Given the description of an element on the screen output the (x, y) to click on. 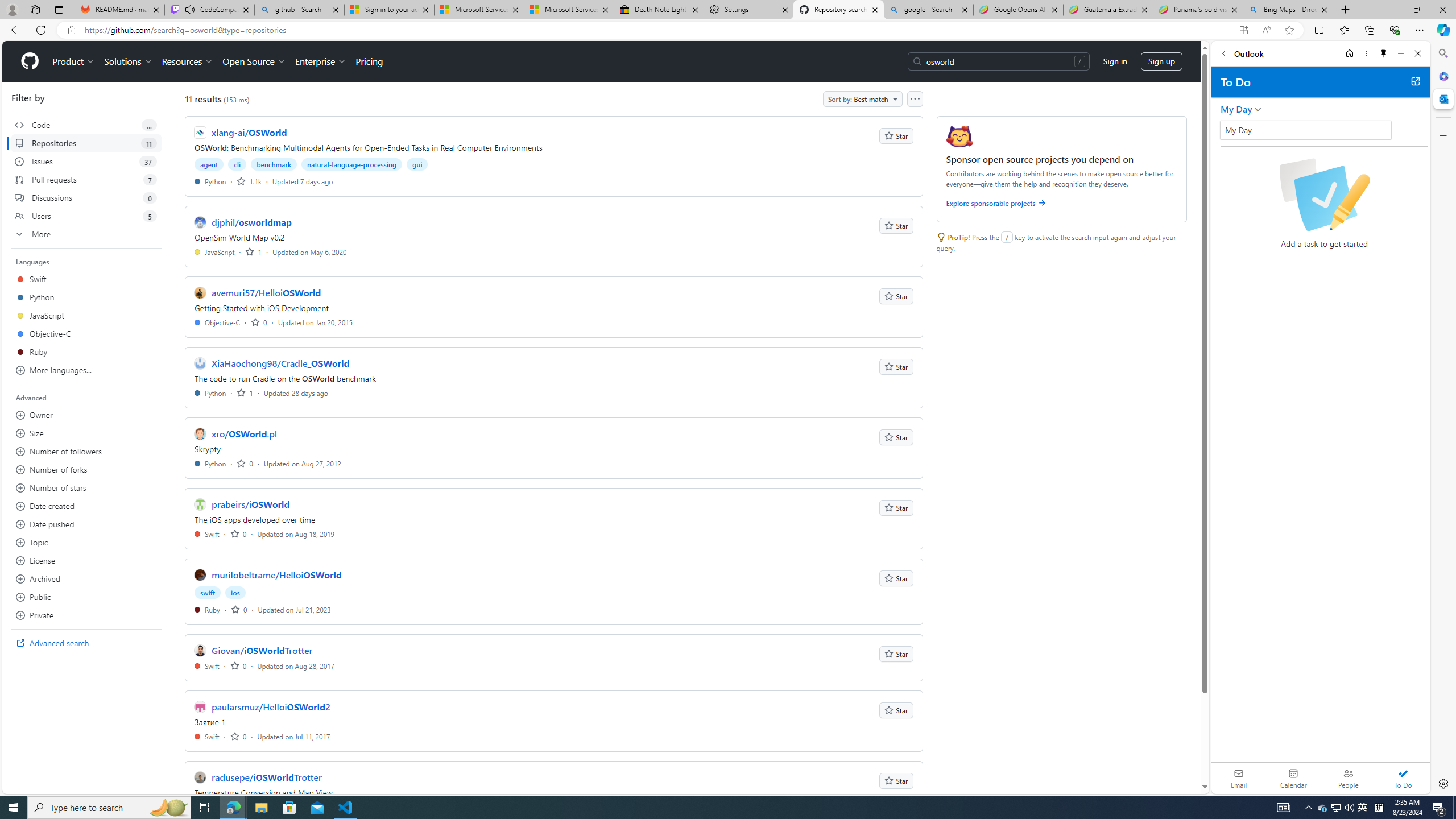
Solutions (128, 60)
Sign in to your account (389, 9)
Enterprise (319, 60)
Advanced search (86, 642)
google - Search (928, 9)
xlang-ai/OSWorld (248, 132)
Objective-C (217, 321)
xro/OSWorld.pl (244, 433)
My Day (1305, 130)
Checkbox with a pencil (1324, 194)
